Given the description of an element on the screen output the (x, y) to click on. 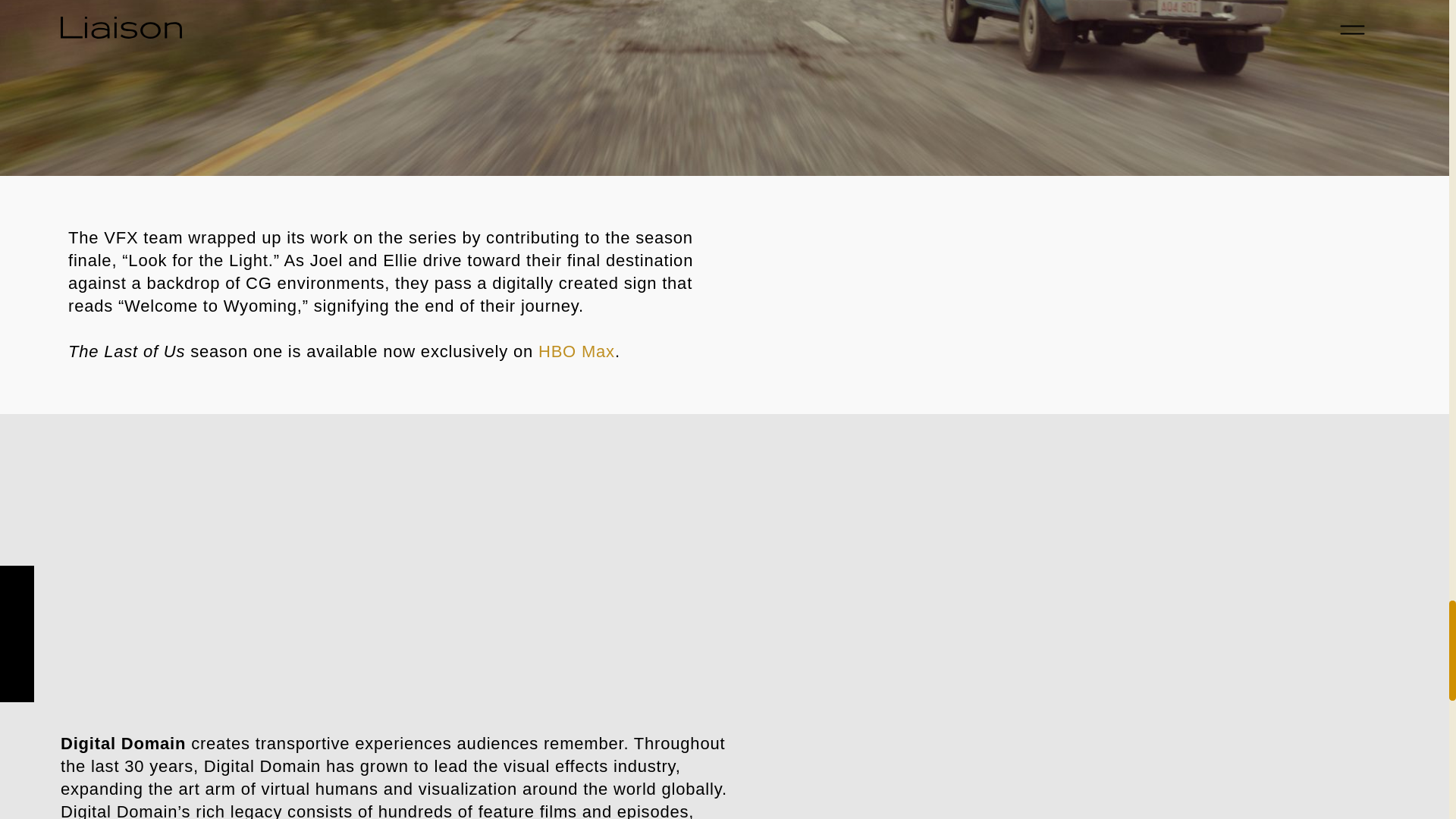
HBO Max (576, 351)
